Given the description of an element on the screen output the (x, y) to click on. 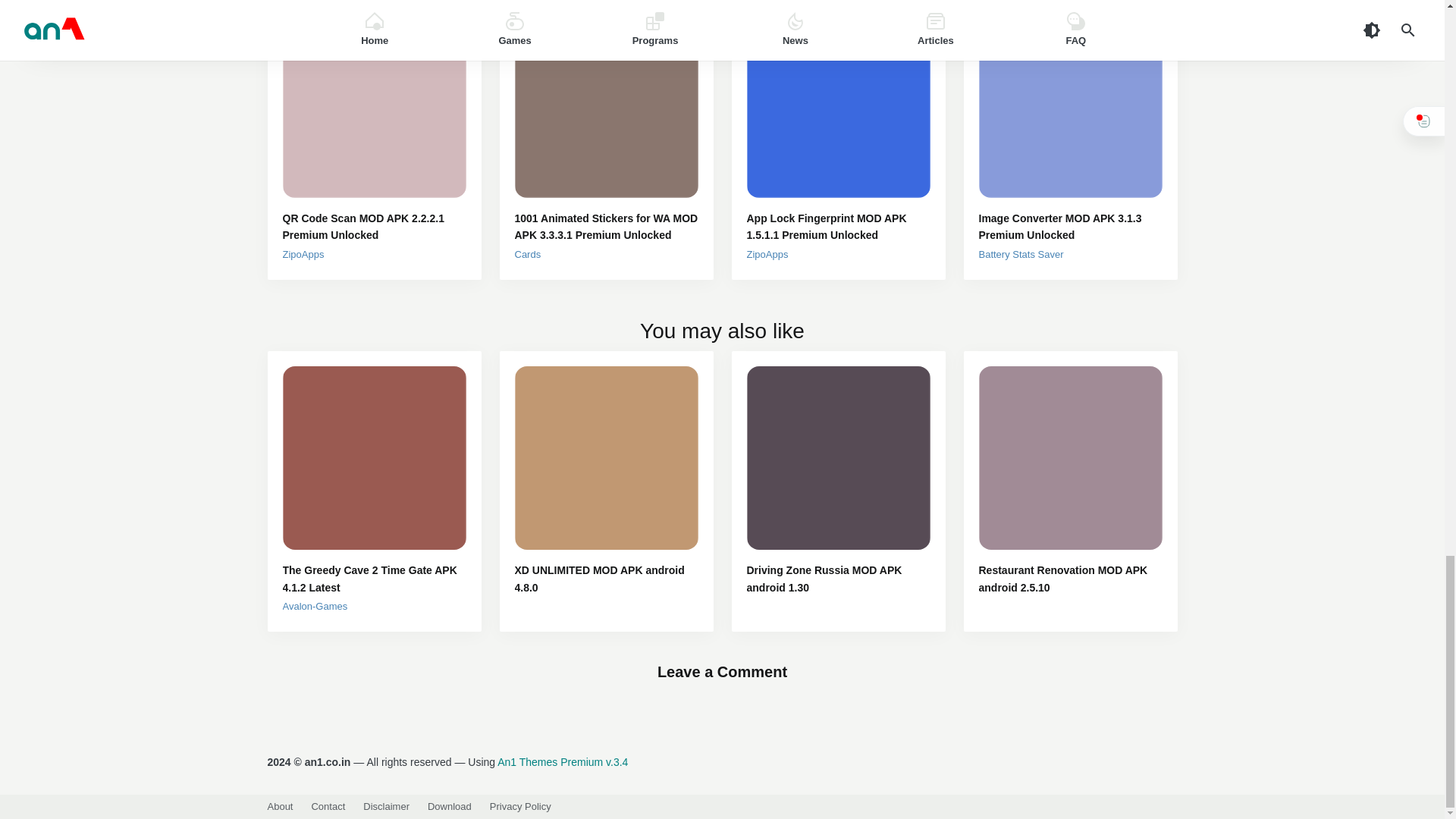
The Greedy Cave 2 Time Gate APK 4.1.2 Latest (373, 578)
Image Converter MOD APK 3.1.3 Premium Unlocked (1069, 226)
QR Code Scan MOD APK 2.2.2.1 Premium Unlocked (373, 226)
App Lock Fingerprint MOD APK 1.5.1.1 Premium Unlocked (837, 226)
